Given the description of an element on the screen output the (x, y) to click on. 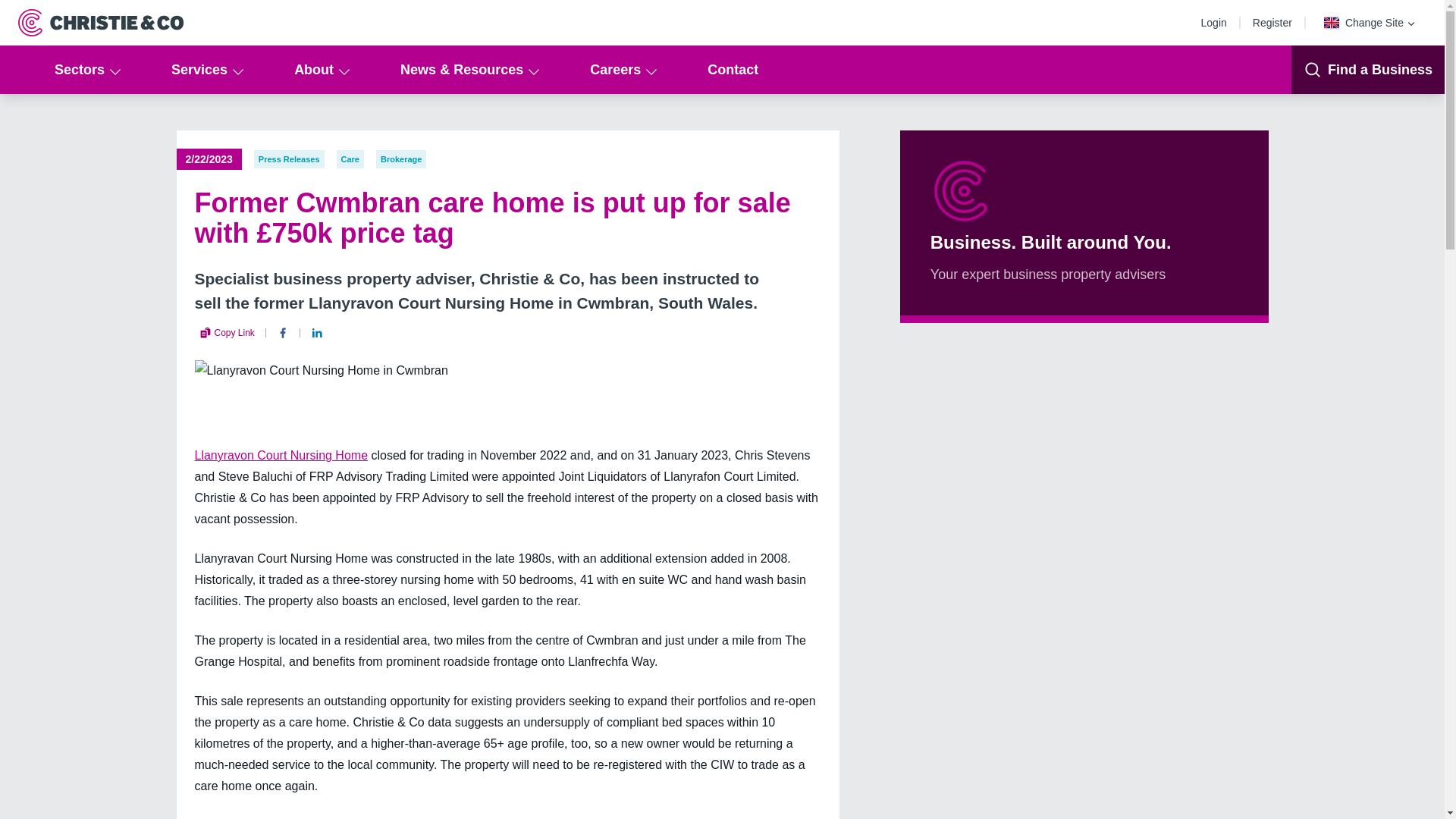
Careers (621, 69)
Copy Link (226, 332)
Llanyravon Court Nursing Home (280, 454)
Services (204, 69)
Contact (732, 70)
Sectors (85, 69)
Share on Facebook (283, 332)
Login (1217, 22)
Register (1276, 22)
Share on LinkedIn (316, 332)
About (320, 69)
Change Site (1369, 22)
